Given the description of an element on the screen output the (x, y) to click on. 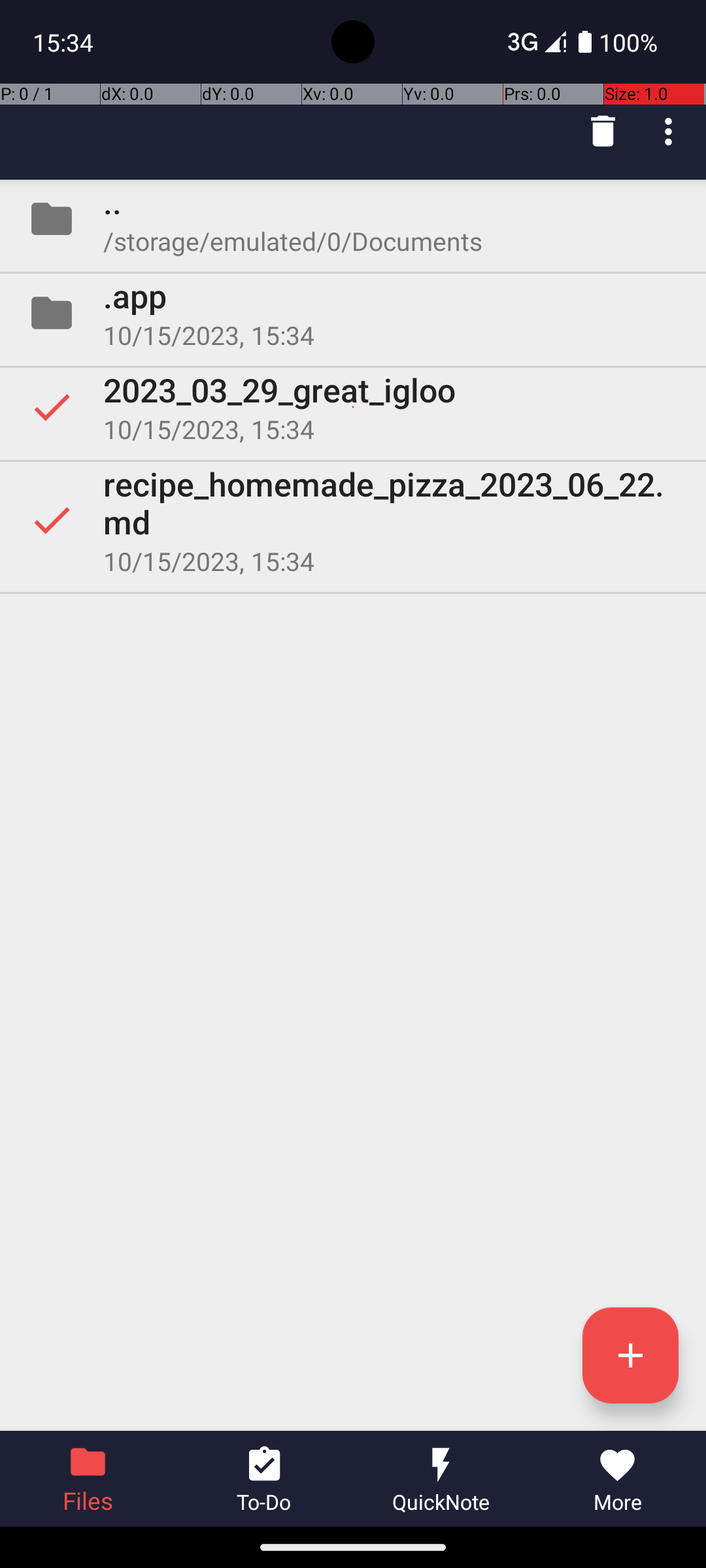
Folder .. /storage/emulated/0 Element type: android.widget.LinearLayout (353, 218)
Folder .app 10/15/2023, 15:34 Element type: android.widget.LinearLayout (353, 312)
Selected 2023_03_29_great_igloo 10/15/2023, 15:34 Element type: android.widget.LinearLayout (353, 406)
Selected recipe_homemade_pizza_2023_06_22.md  Element type: android.widget.LinearLayout (353, 519)
